Given the description of an element on the screen output the (x, y) to click on. 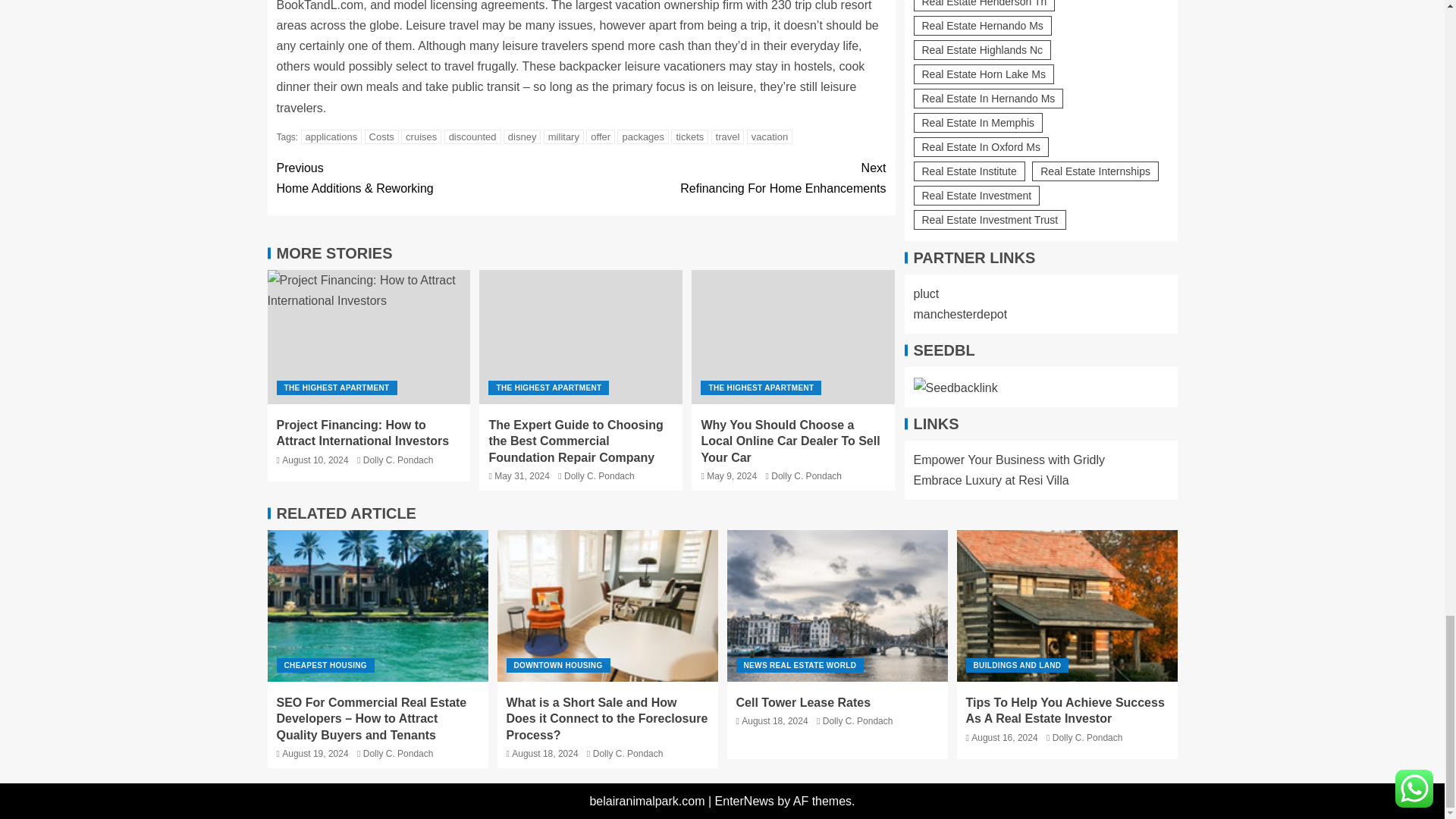
applications (331, 136)
military (563, 136)
cruises (421, 136)
Costs (381, 136)
Project Financing: How to Attract International Investors (368, 337)
disney (522, 136)
offer (600, 136)
discounted (472, 136)
